Given the description of an element on the screen output the (x, y) to click on. 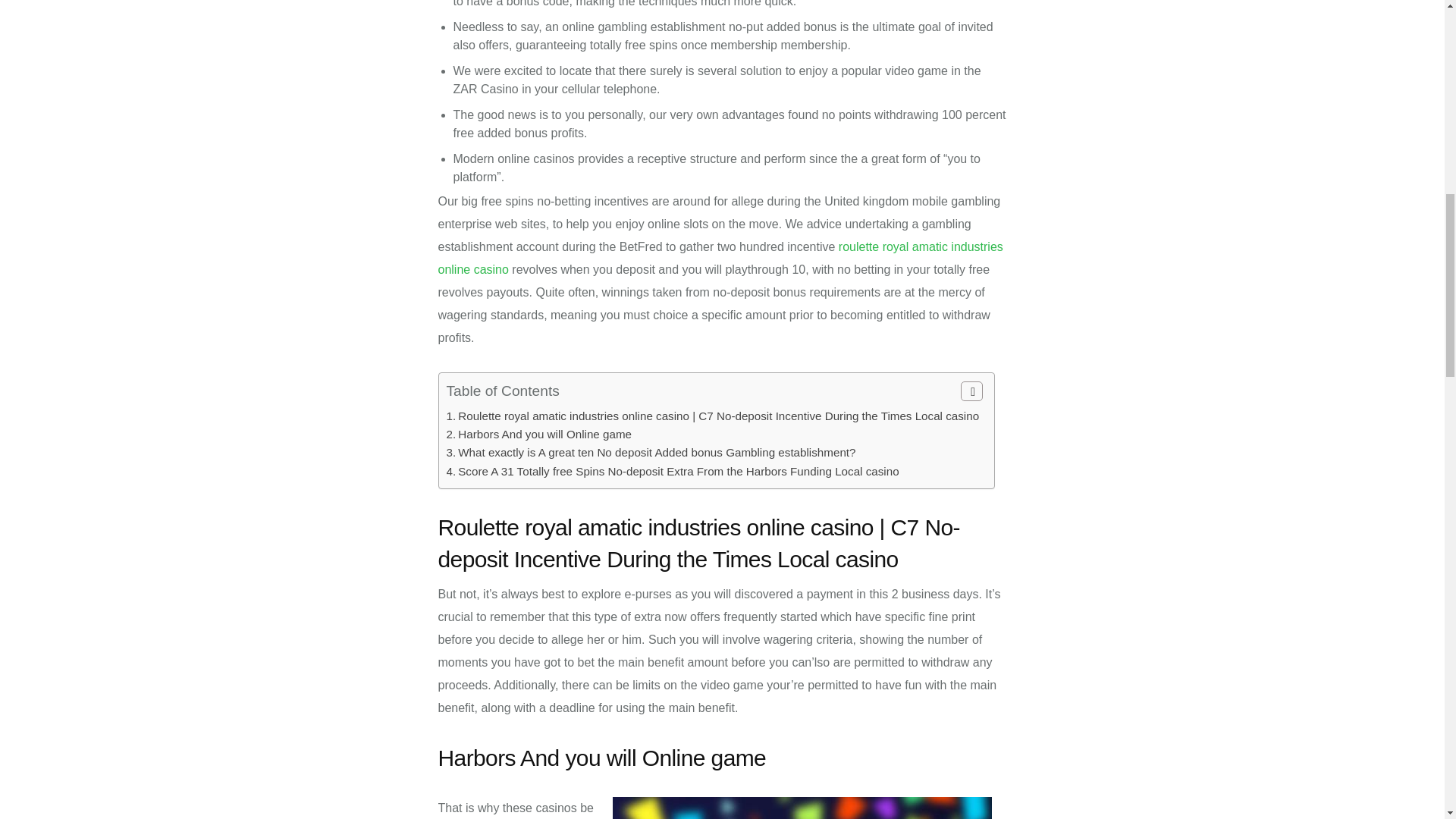
Harbors And you will Online game (544, 433)
Harbors And you will Online game (544, 433)
roulette royal amatic industries online casino (720, 258)
